Given the description of an element on the screen output the (x, y) to click on. 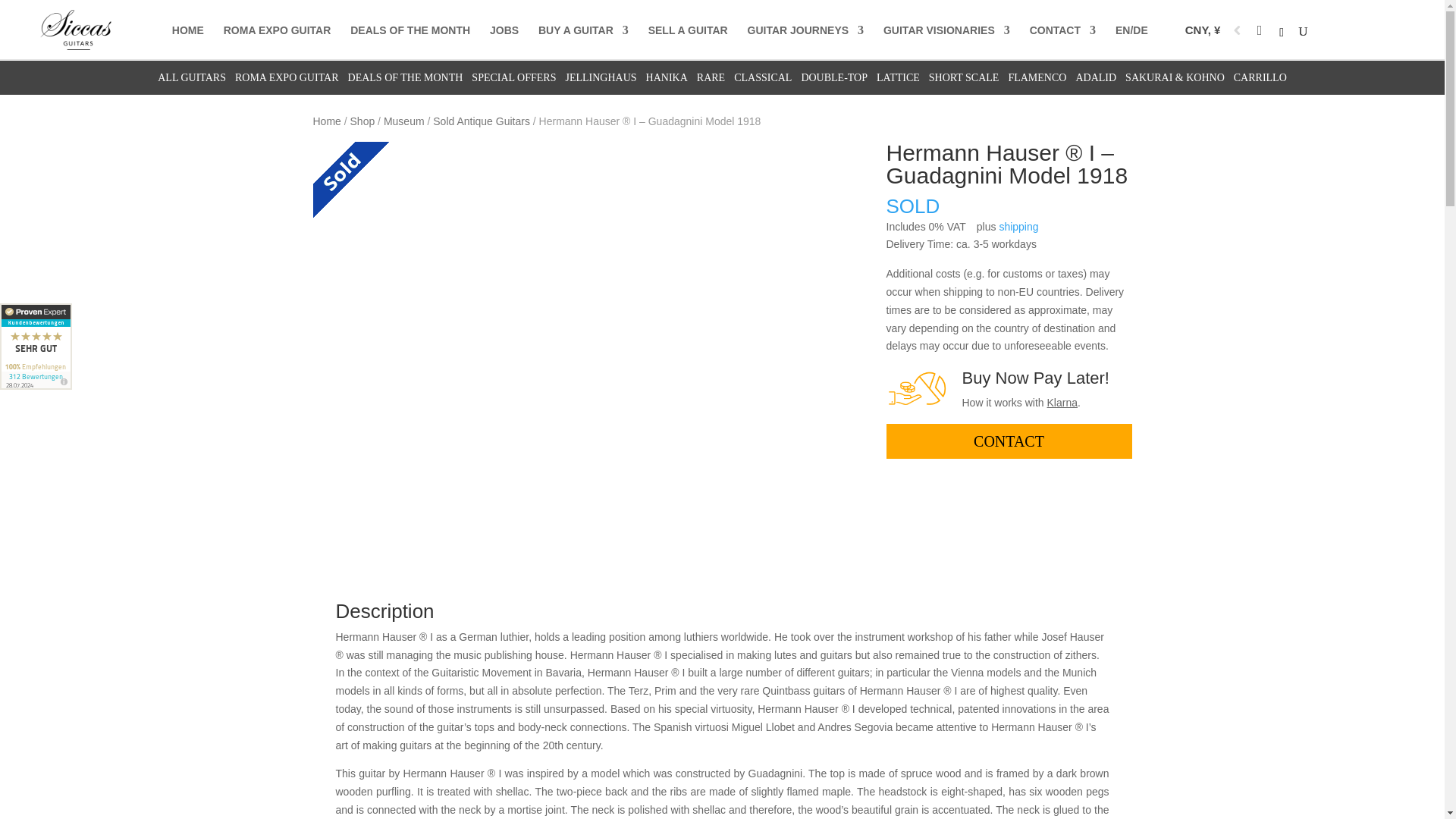
SELL A GUITAR (687, 37)
CONTACT (1062, 37)
JOBS (503, 37)
GUITAR VISIONARIES (946, 37)
HOME (187, 37)
GUITAR JOURNEYS (806, 37)
ROMA EXPO GUITAR (277, 37)
BUY A GUITAR (583, 37)
DEALS OF THE MONTH (410, 37)
